Given the description of an element on the screen output the (x, y) to click on. 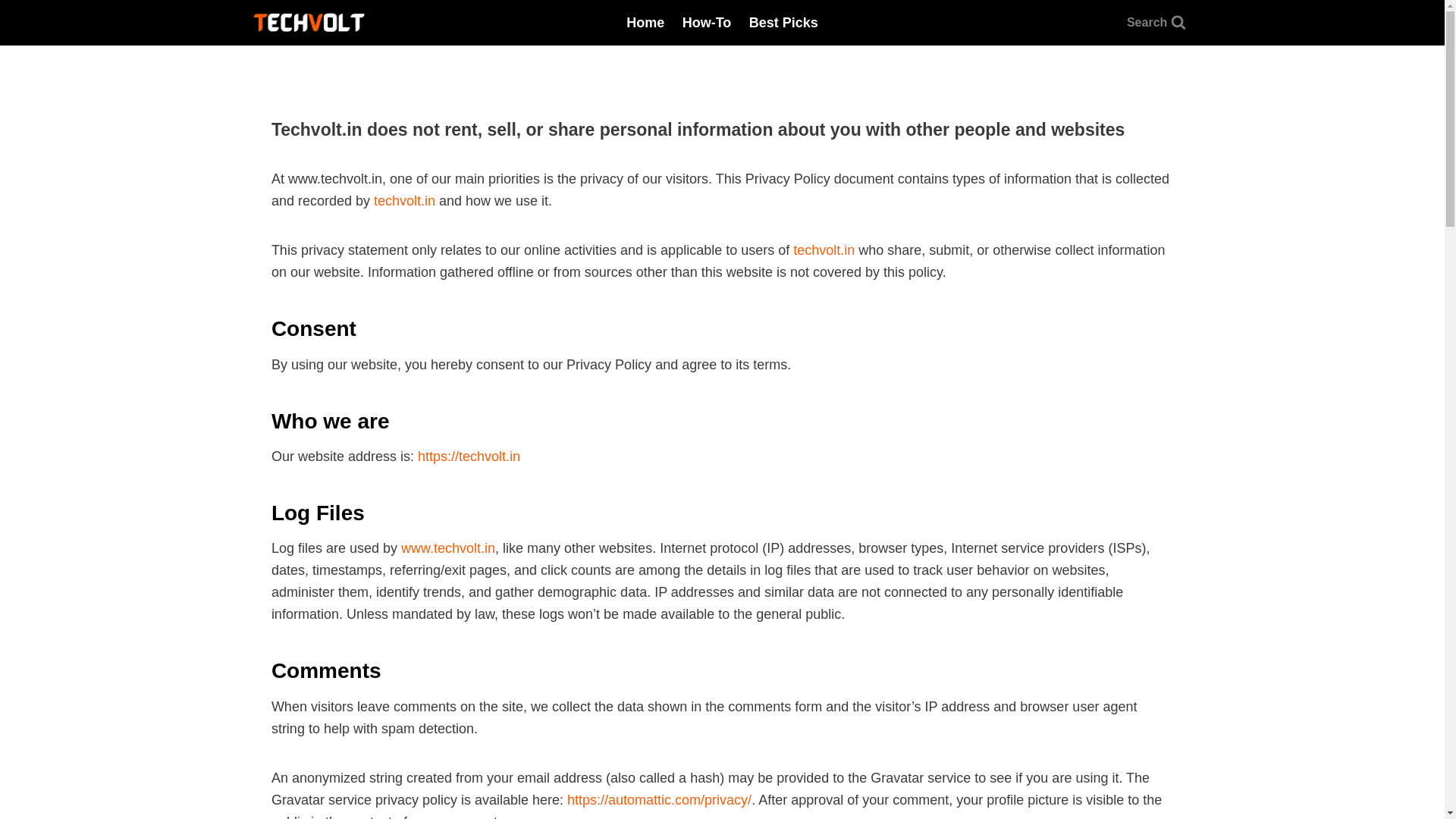
techvolt.in (404, 200)
How-To (705, 23)
techvolt.in (823, 249)
Best Picks (783, 23)
www.techvolt.in (448, 548)
Home (644, 23)
Search (1156, 22)
